Given the description of an element on the screen output the (x, y) to click on. 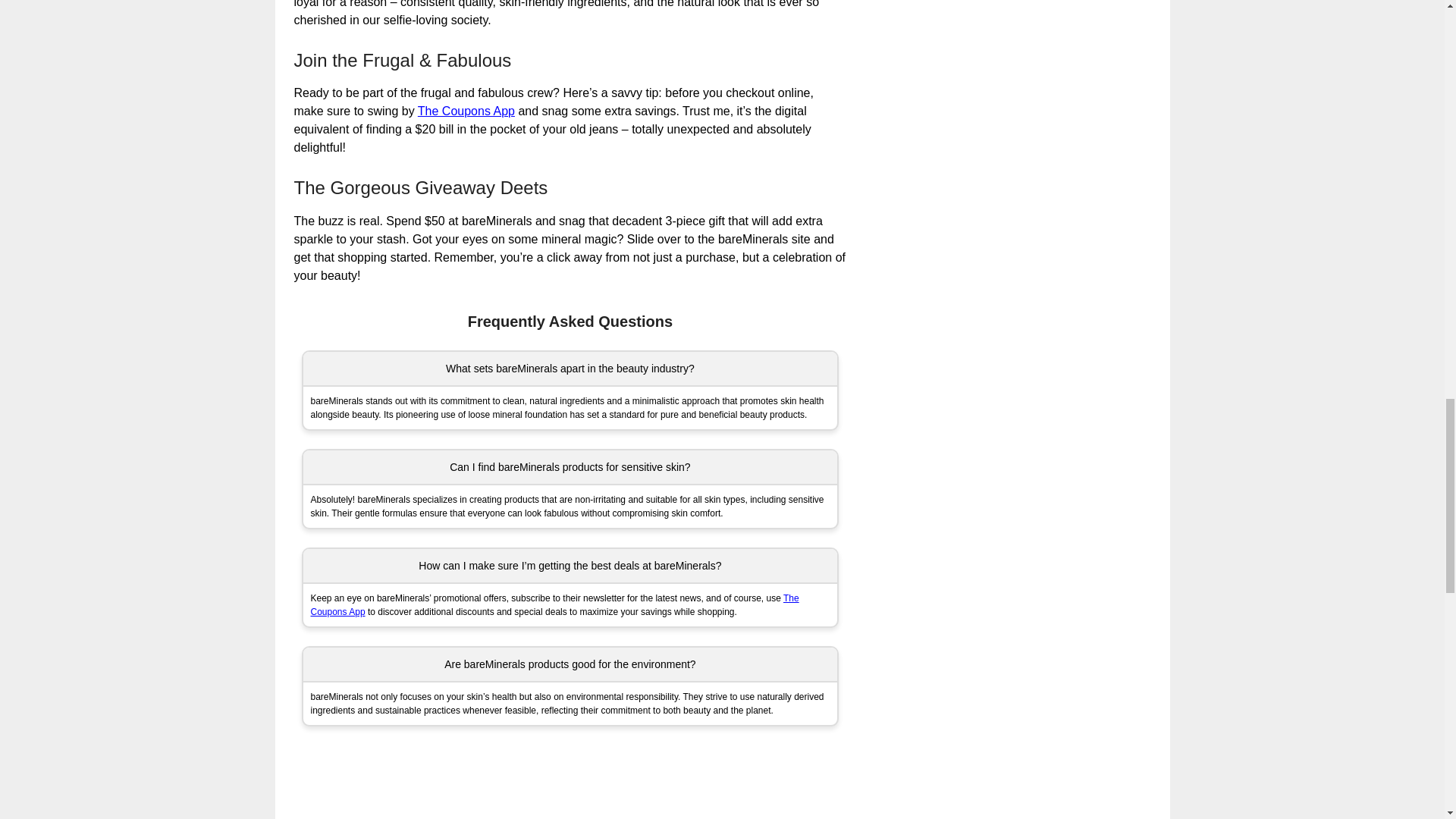
The Coupons App (466, 110)
The Coupons App (555, 604)
